Given the description of an element on the screen output the (x, y) to click on. 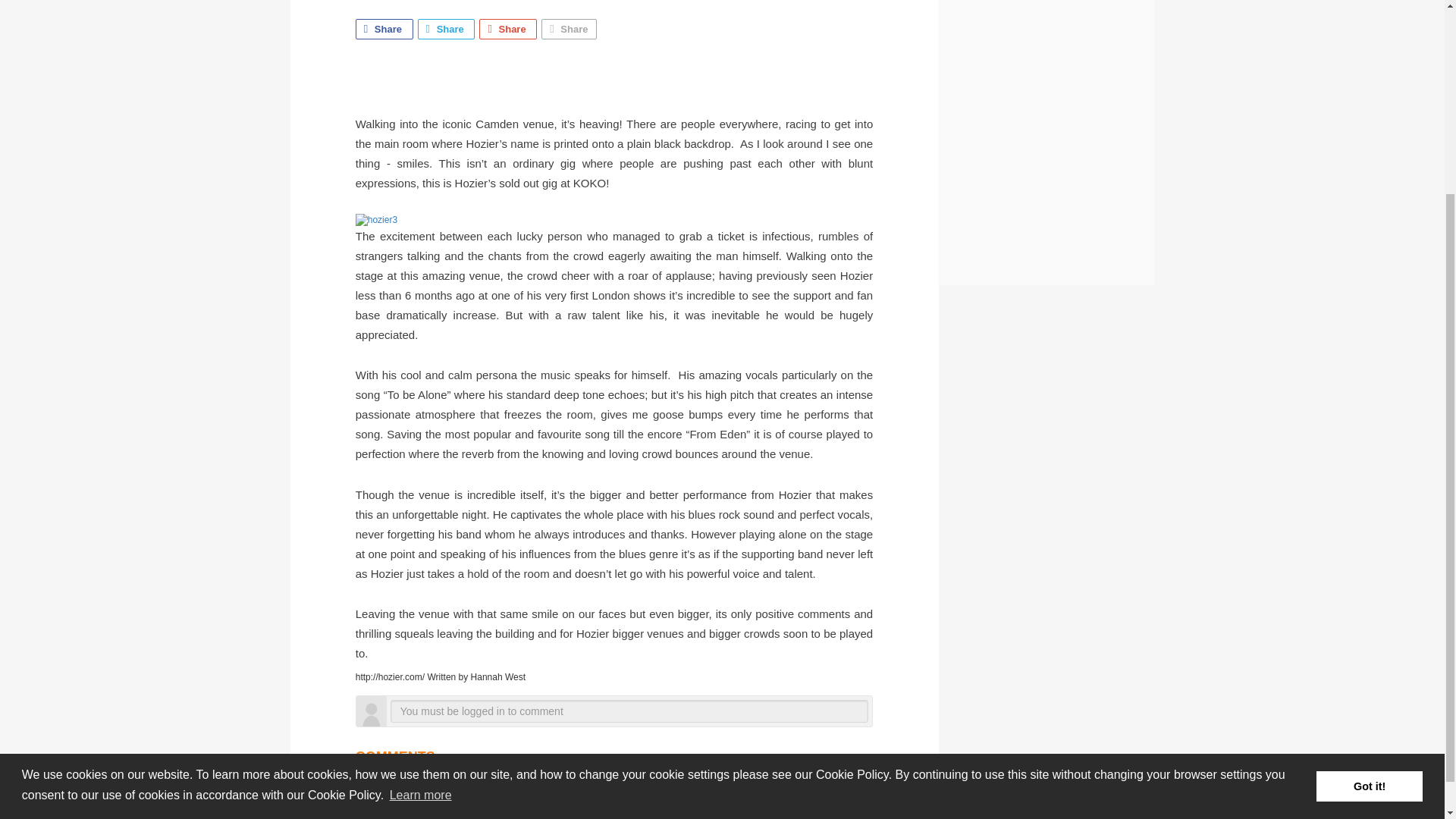
Got it! (1369, 530)
Share (508, 28)
Share (446, 28)
Learn more (420, 539)
Share (384, 28)
Share (568, 28)
